Given the description of an element on the screen output the (x, y) to click on. 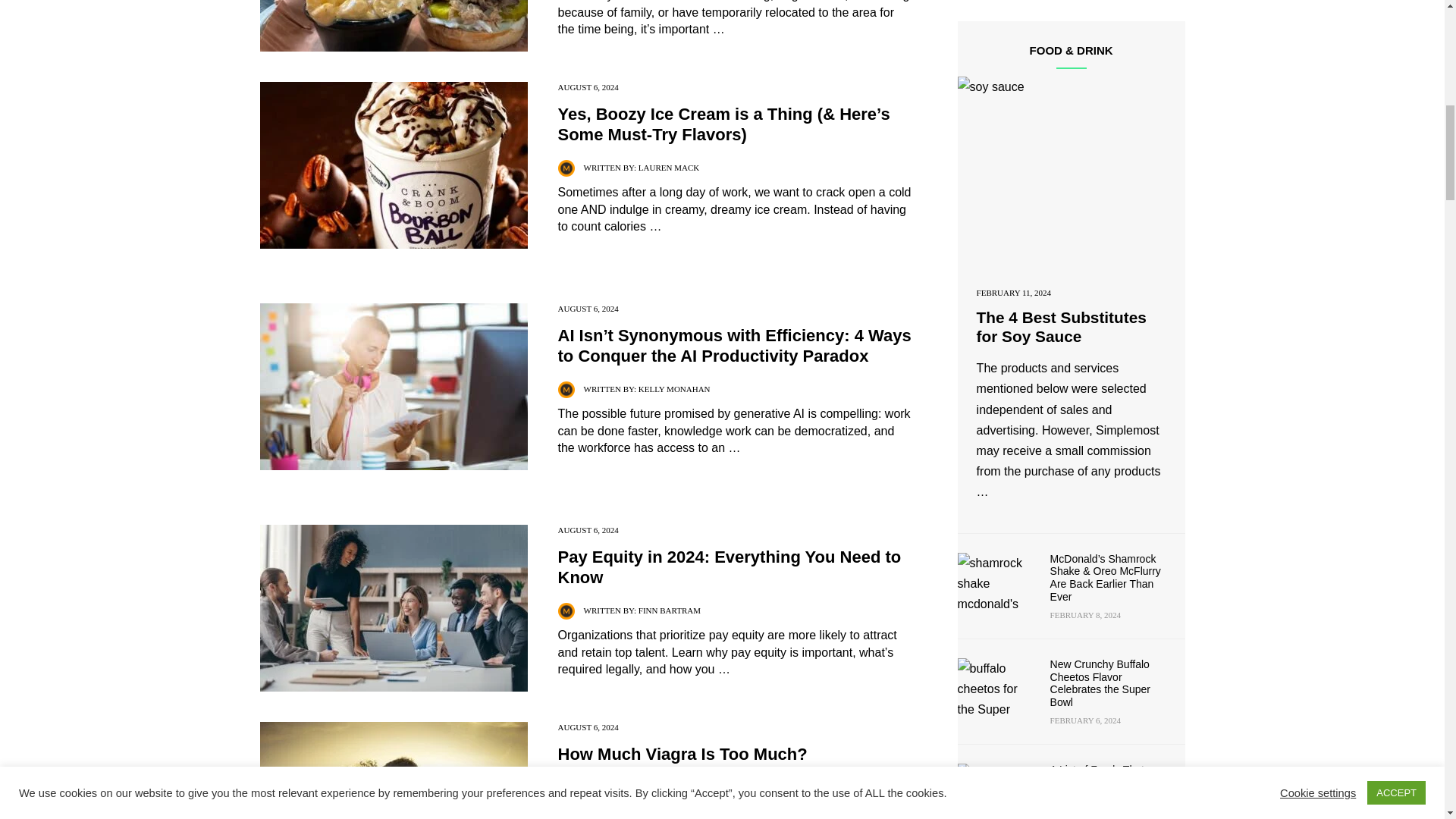
LAUREN MACK (668, 166)
Posts by Rachel Sacks (669, 787)
Posts by Kelly Monahan (674, 388)
Posts by Finn Bartram (669, 610)
Posts by Lauren Mack (668, 166)
